Given the description of an element on the screen output the (x, y) to click on. 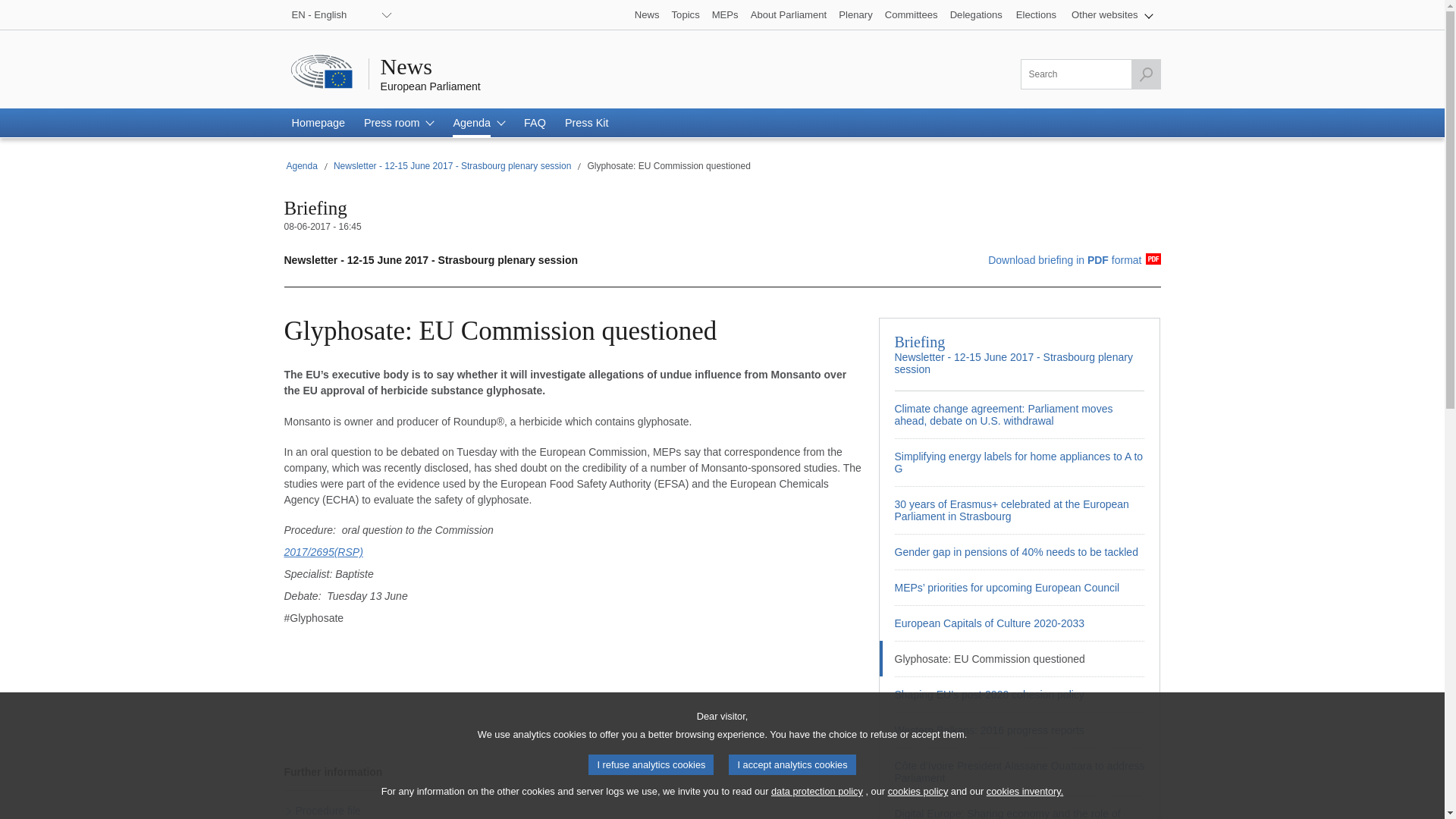
Committees (911, 14)
About Parliament (788, 14)
Topics (685, 14)
cookies policy (918, 791)
Go to the page (1019, 414)
Go to the page (1019, 693)
Plenary (854, 14)
Open in a new page (325, 811)
data protection policy (817, 791)
I refuse analytics cookies (650, 764)
Read the PDF document (1066, 260)
Go to the page (1019, 622)
Go to the page (1019, 807)
Go to the page (1019, 462)
Go to the page (1019, 729)
